Given the description of an element on the screen output the (x, y) to click on. 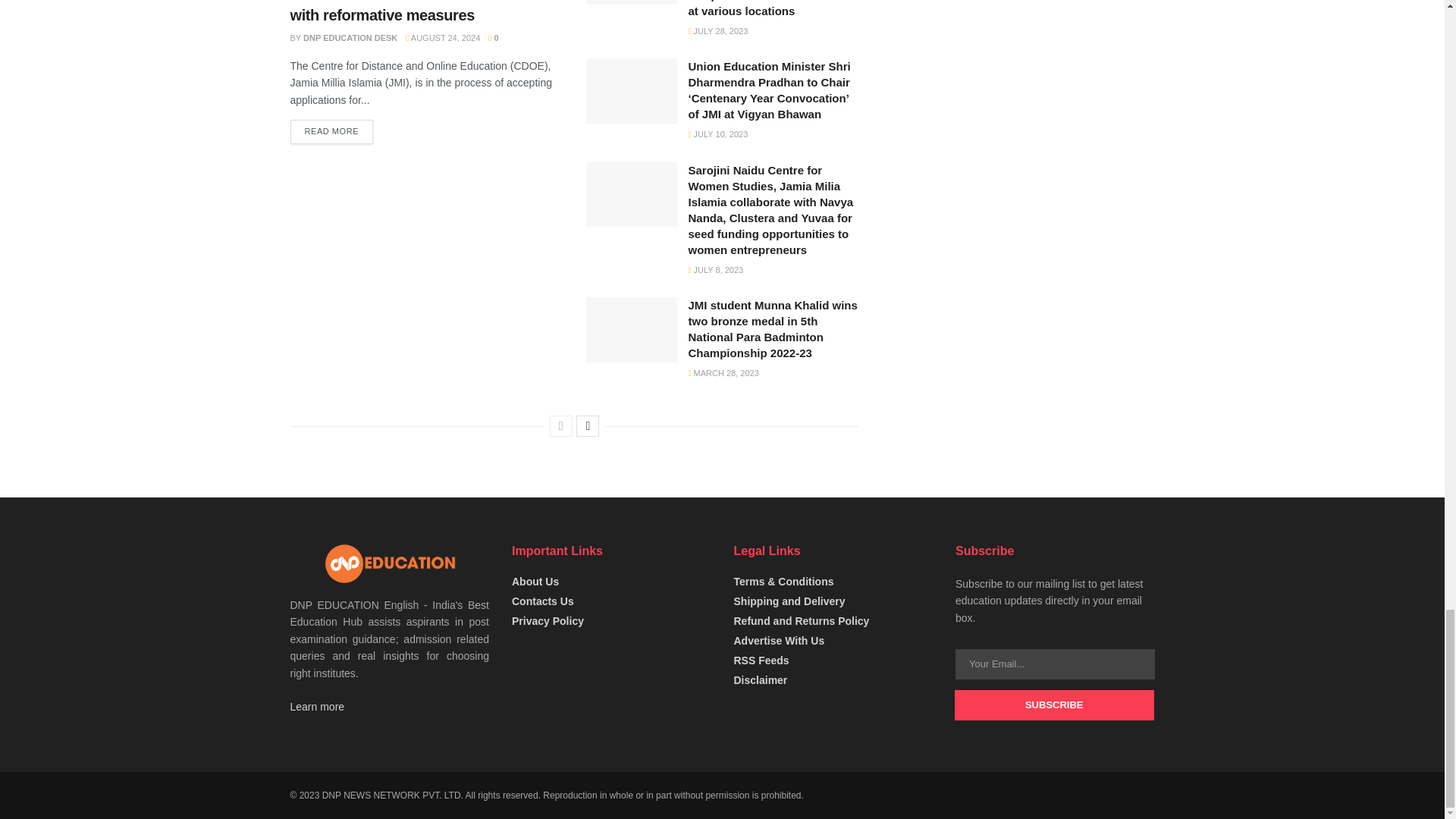
Next (587, 425)
Previous (561, 425)
Subscribe (1054, 705)
